Given the description of an element on the screen output the (x, y) to click on. 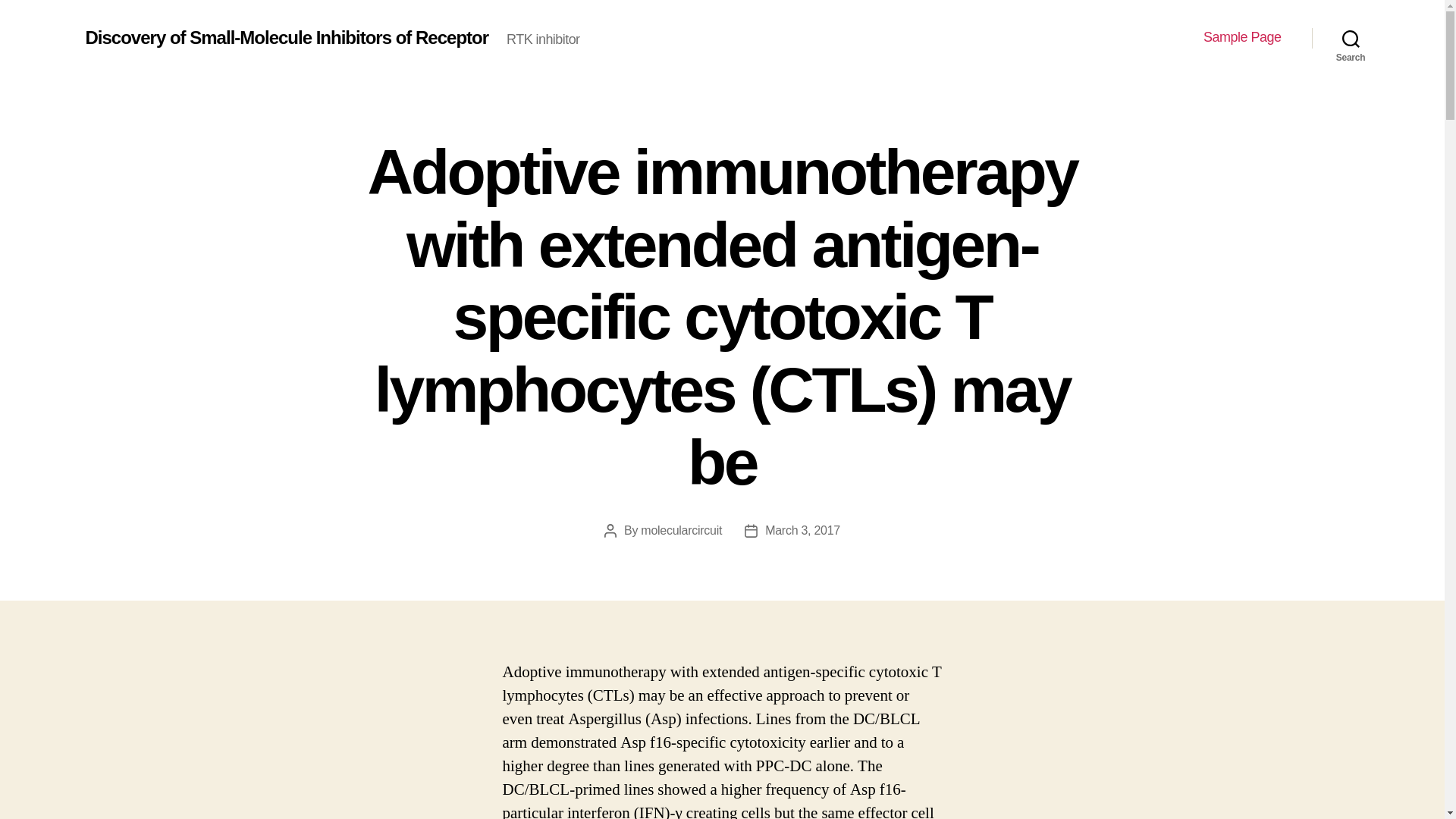
Sample Page (1242, 37)
Search (1350, 37)
March 3, 2017 (802, 530)
molecularcircuit (681, 530)
Discovery of Small-Molecule Inhibitors of Receptor (285, 37)
